Given the description of an element on the screen output the (x, y) to click on. 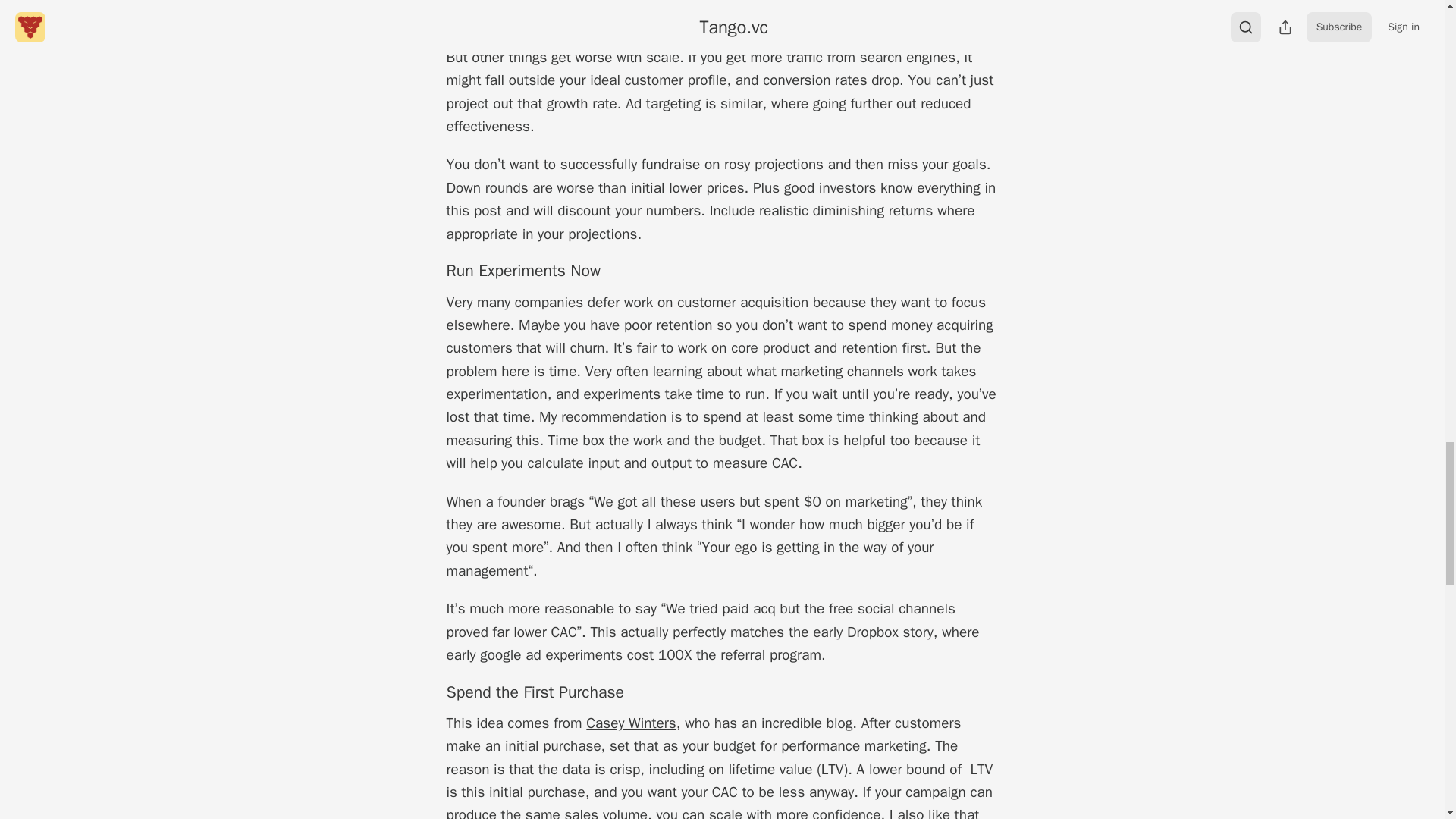
Casey Winters (630, 723)
